Given the description of an element on the screen output the (x, y) to click on. 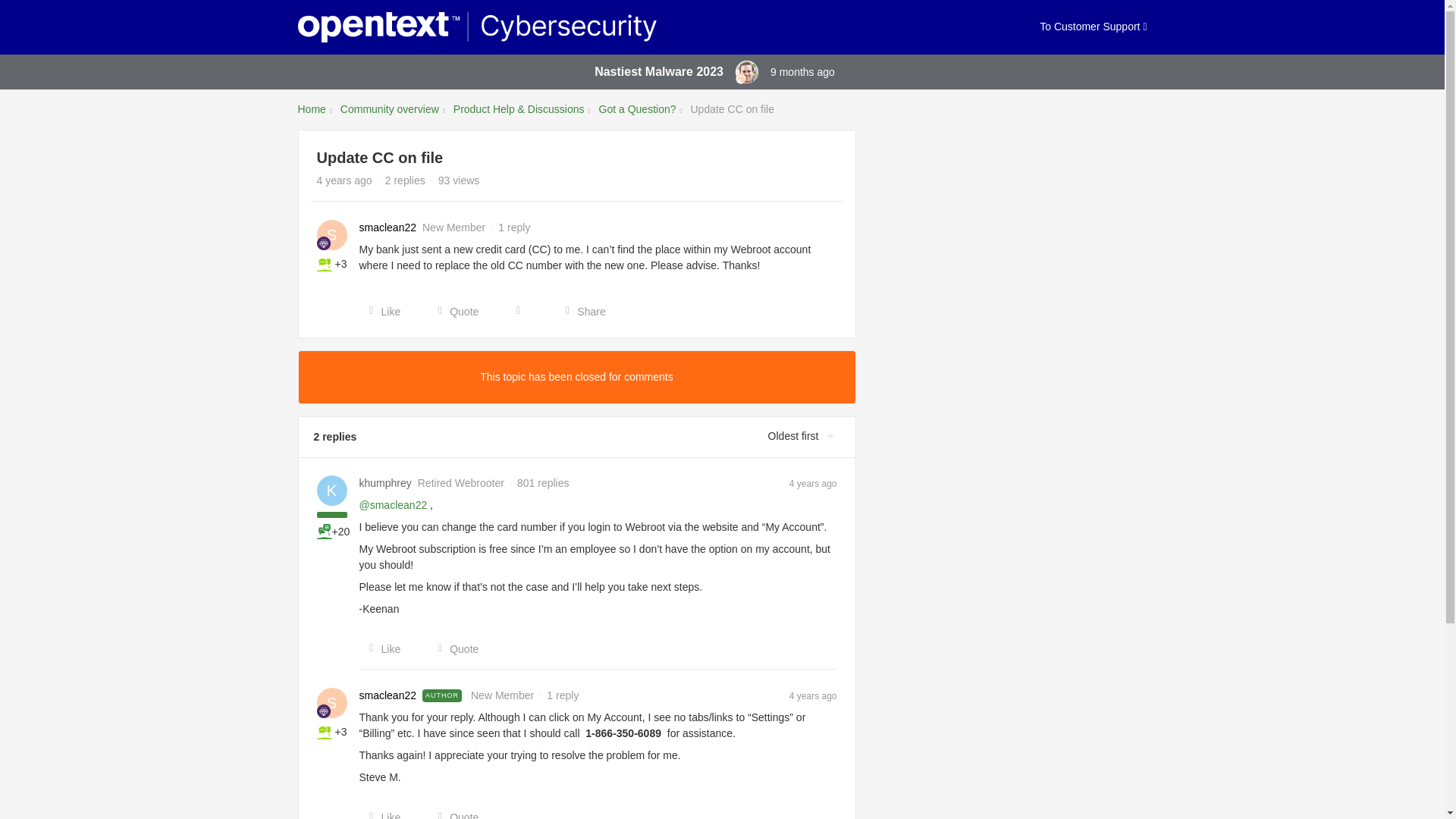
S (332, 702)
S (332, 235)
4 years ago (813, 695)
2 replies (405, 180)
khumphrey (385, 483)
Community overview (389, 109)
Product Help: Posted 1 topic! (324, 263)
smaclean22 (387, 227)
4 years ago (813, 482)
Like (380, 814)
Administrator (740, 78)
K (332, 490)
News: Posted 1 comment! (324, 531)
Product Help: Posted 1 topic! (324, 731)
Quote (453, 814)
